Given the description of an element on the screen output the (x, y) to click on. 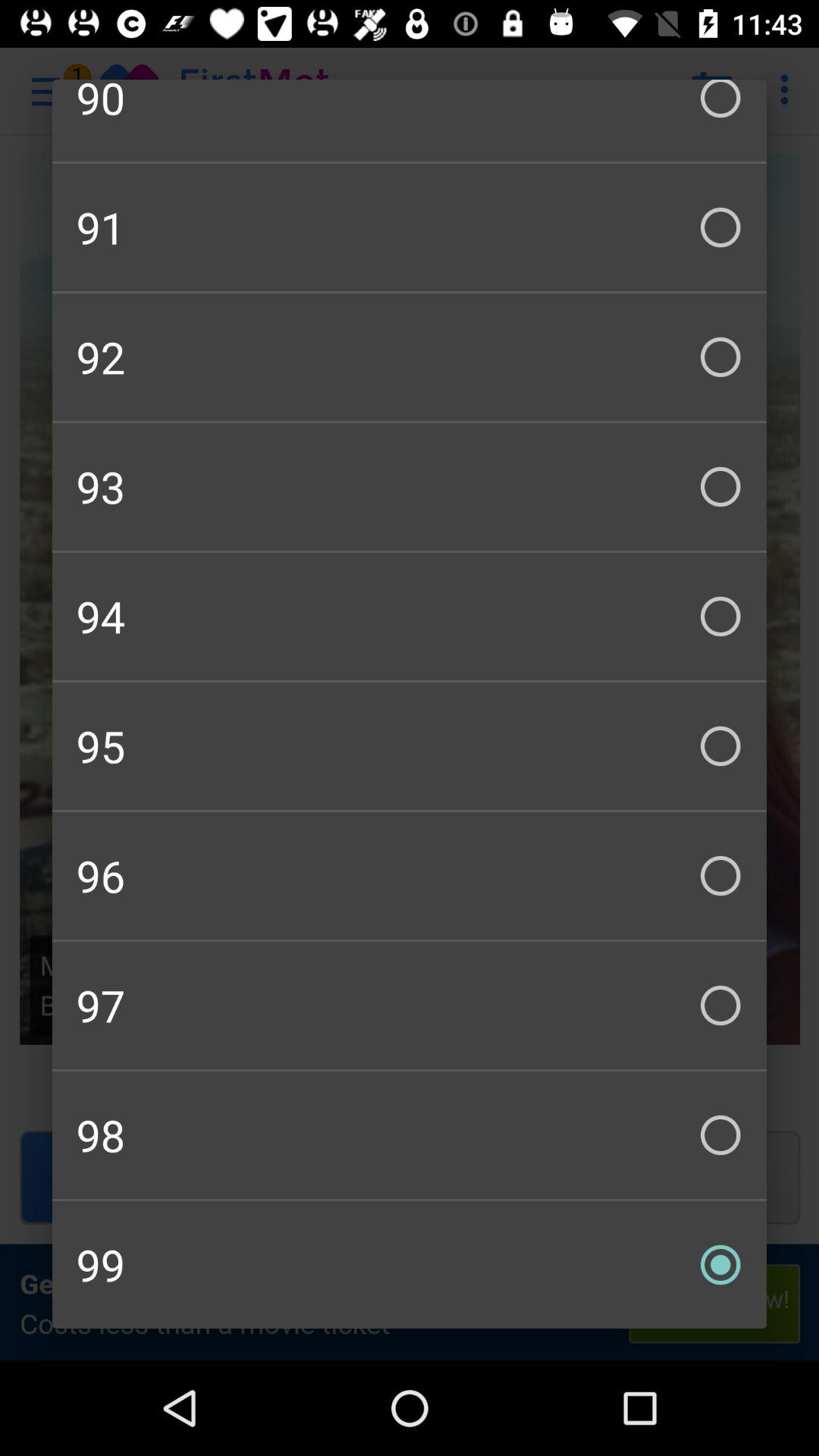
turn off the icon above 97 icon (409, 875)
